Given the description of an element on the screen output the (x, y) to click on. 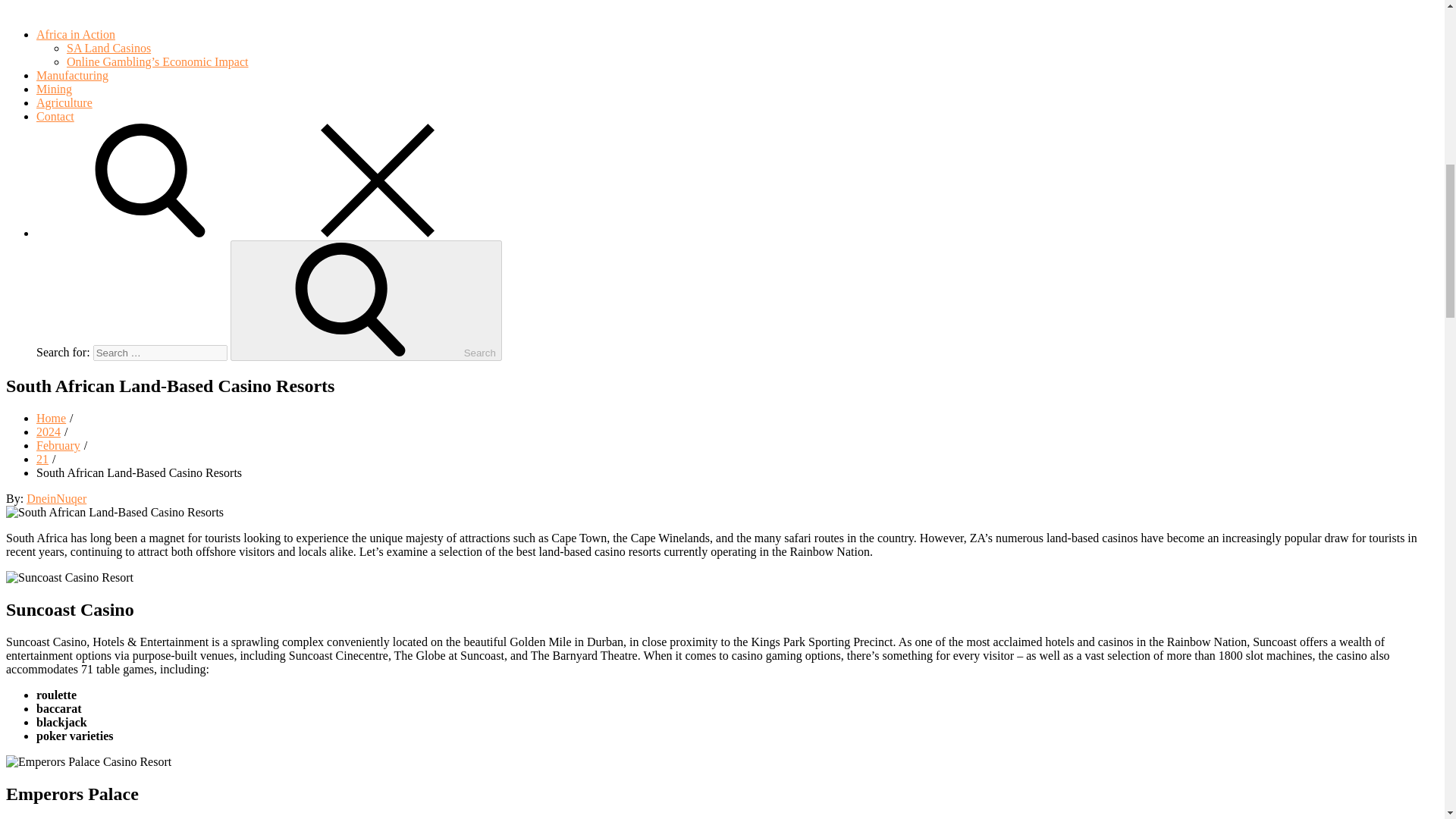
Contact (55, 115)
Mining (53, 88)
Home (50, 418)
Search (366, 300)
Manufacturing (71, 74)
Africa in Action (189, 33)
Agriculture (64, 102)
DneinNuqer (55, 498)
21 (42, 459)
February (58, 445)
SA Land Casinos (108, 47)
2024 (48, 431)
